Given the description of an element on the screen output the (x, y) to click on. 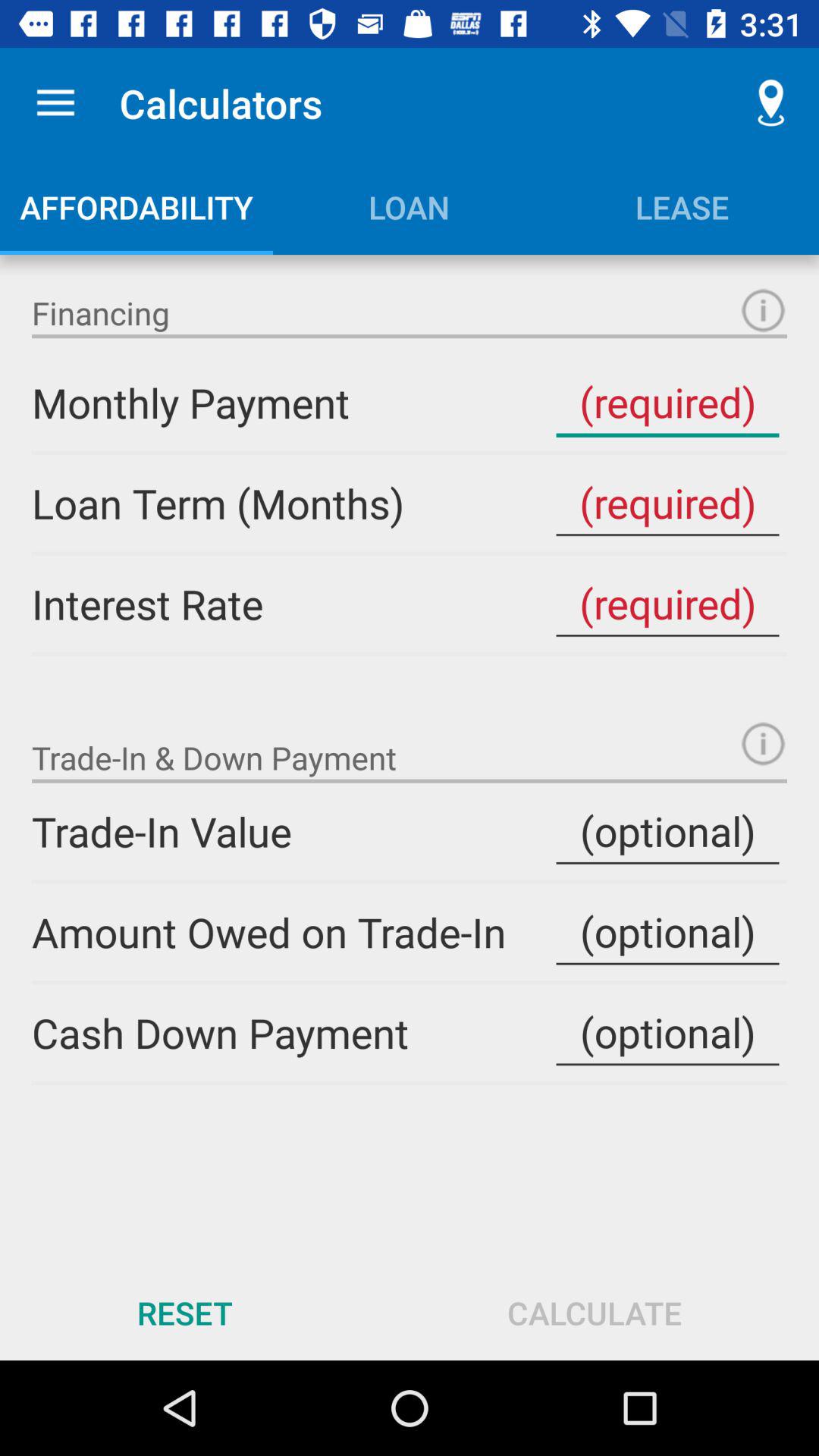
enter value (667, 603)
